Given the description of an element on the screen output the (x, y) to click on. 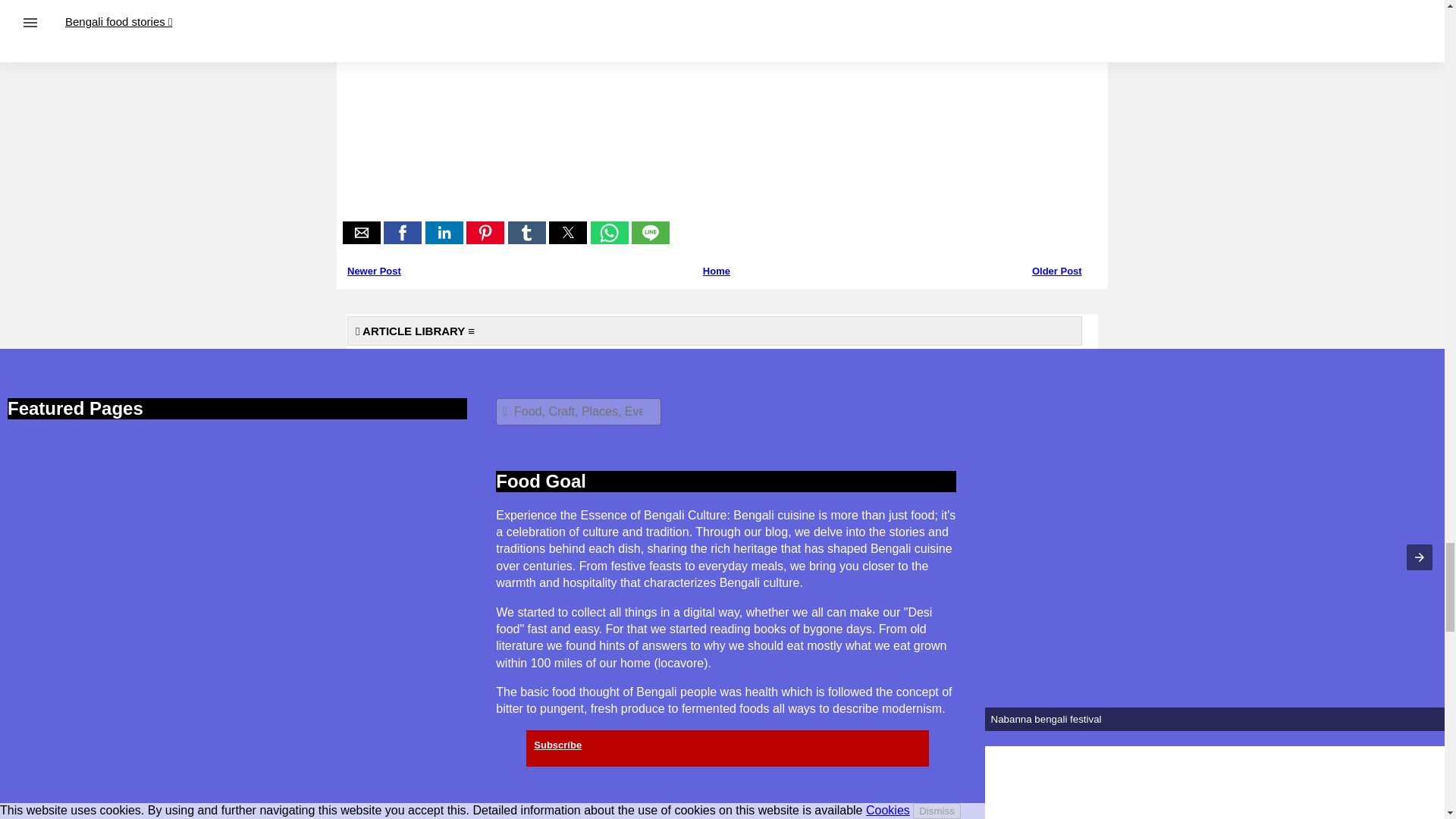
Home (716, 270)
Newer Post (374, 270)
Older Post (1056, 270)
